Given the description of an element on the screen output the (x, y) to click on. 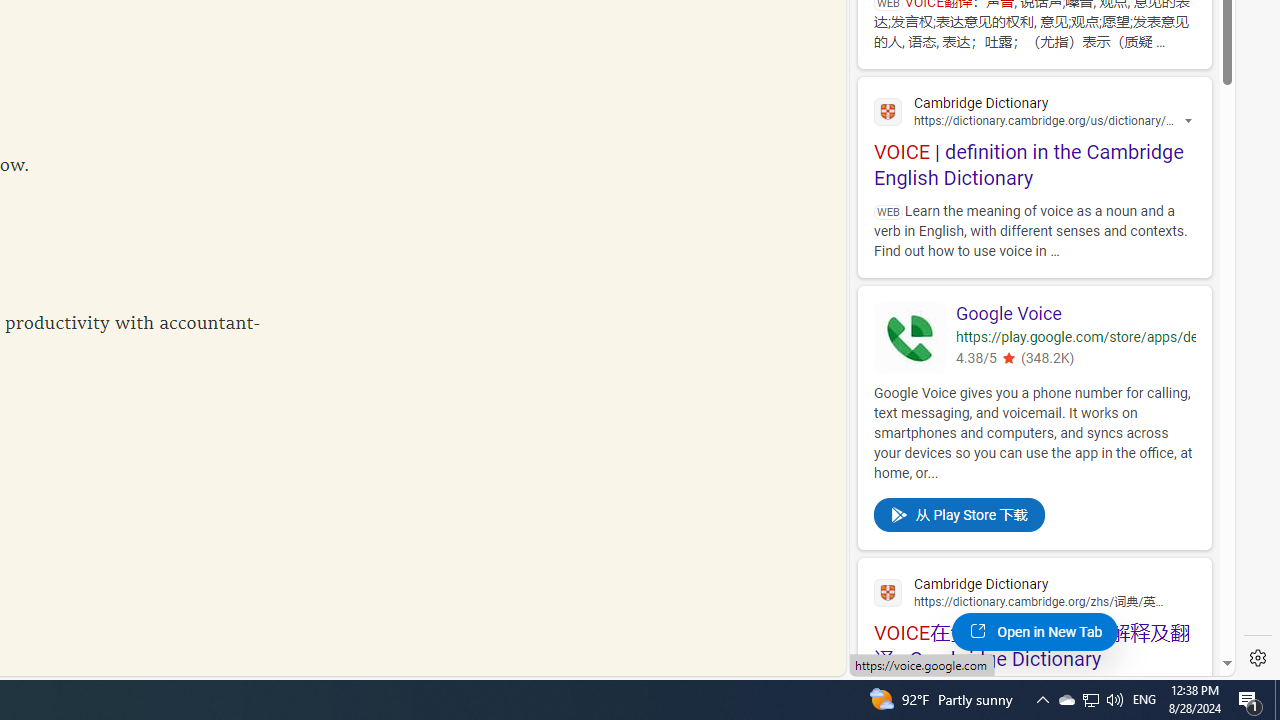
Google Voice (909, 337)
